Given the description of an element on the screen output the (x, y) to click on. 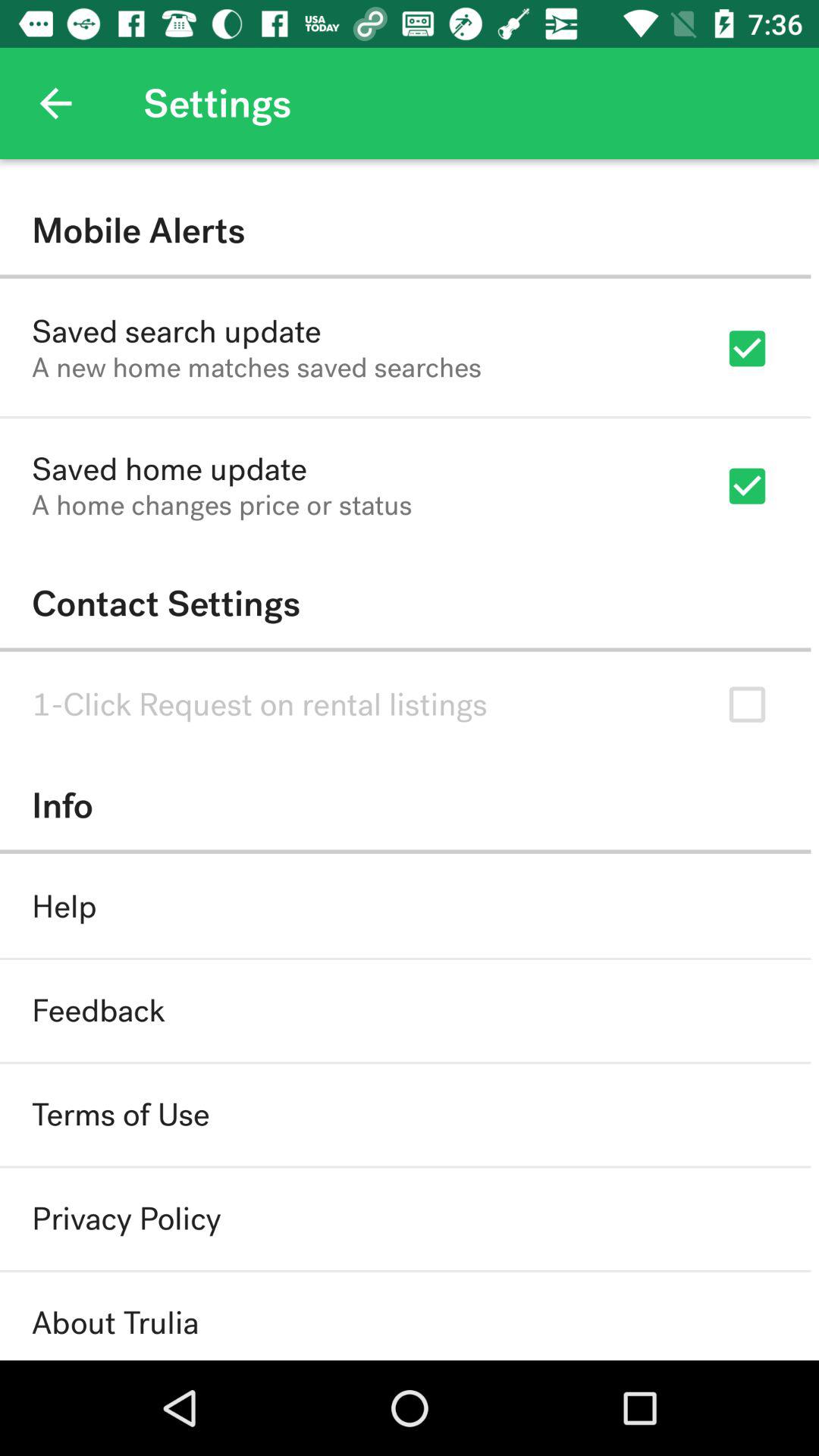
turn off the info item (405, 805)
